Given the description of an element on the screen output the (x, y) to click on. 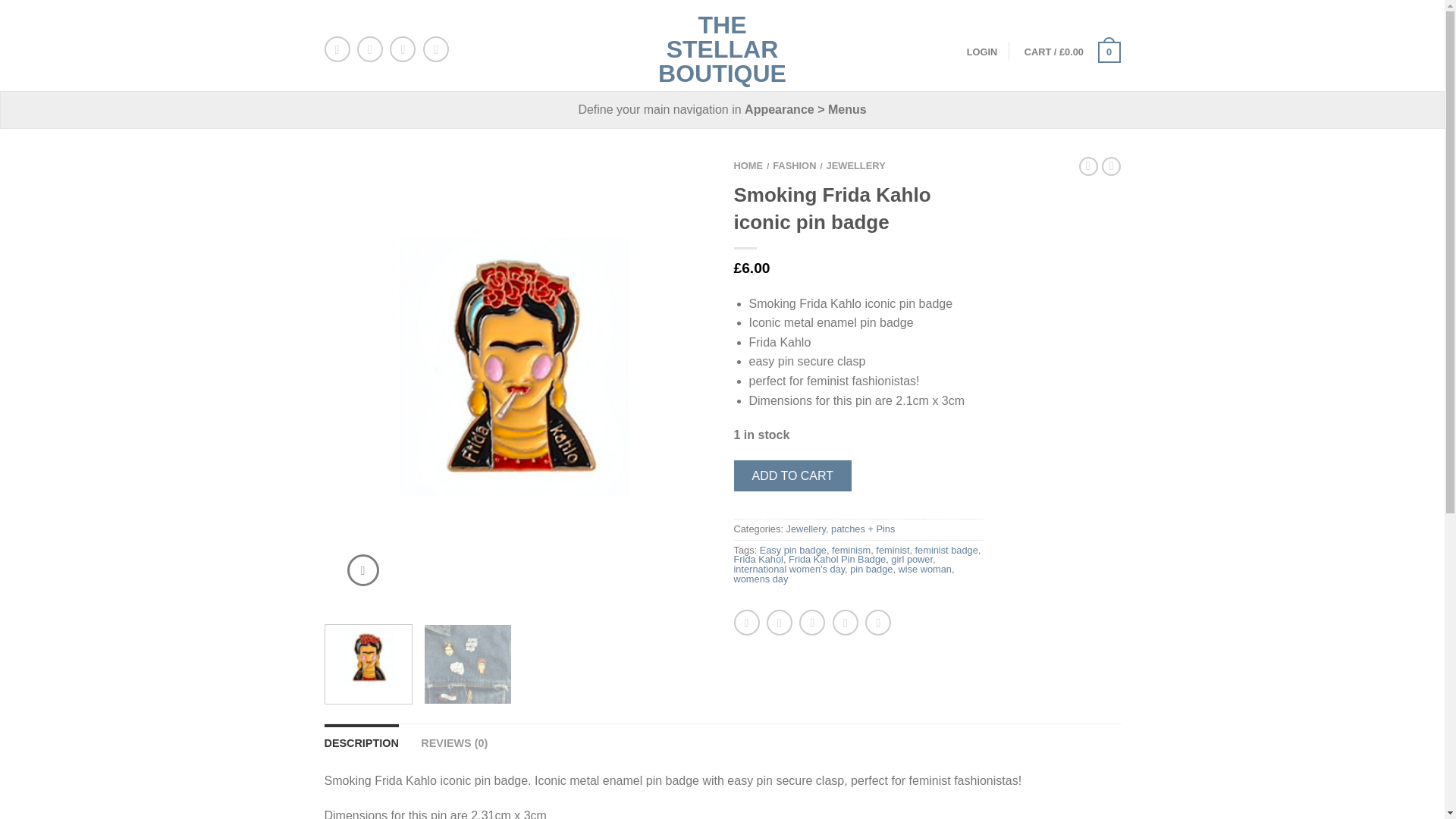
Jewellery (805, 528)
Share on Twitter (779, 622)
feminism (850, 550)
feminist badge (946, 550)
feminist pin badges final (468, 667)
Email to a Friend (812, 622)
girl power (912, 559)
Frida Kahol (758, 559)
Pin on Pinterest (845, 622)
Follow us on Facebook (337, 49)
Share on Facebook (746, 622)
feminist (892, 550)
Follow us on Twitter (369, 49)
Frida Kahol Pin Badge (837, 559)
JEWELLERY (856, 165)
